Given the description of an element on the screen output the (x, y) to click on. 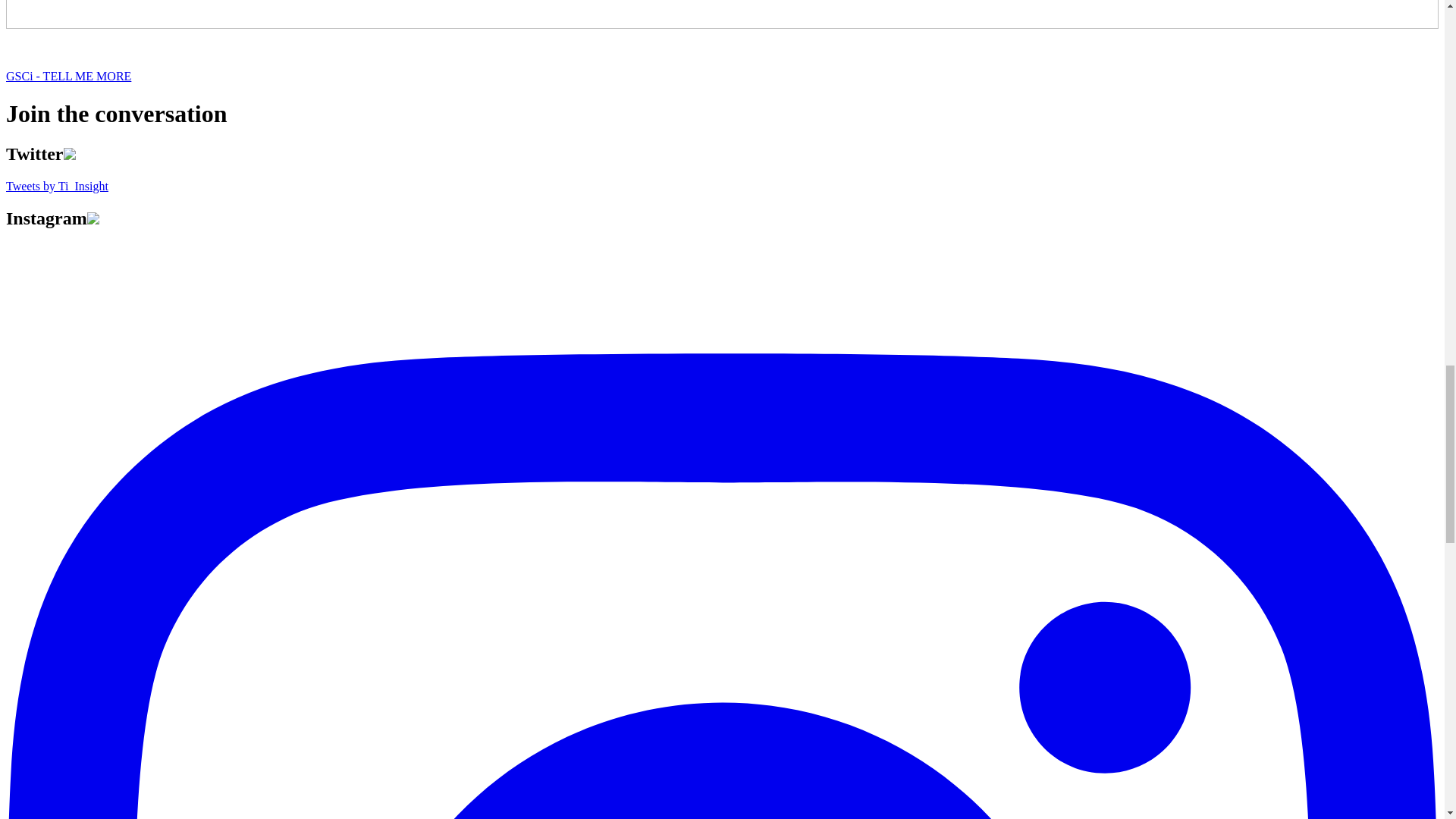
GSCi - TELL ME MORE (68, 75)
